Given the description of an element on the screen output the (x, y) to click on. 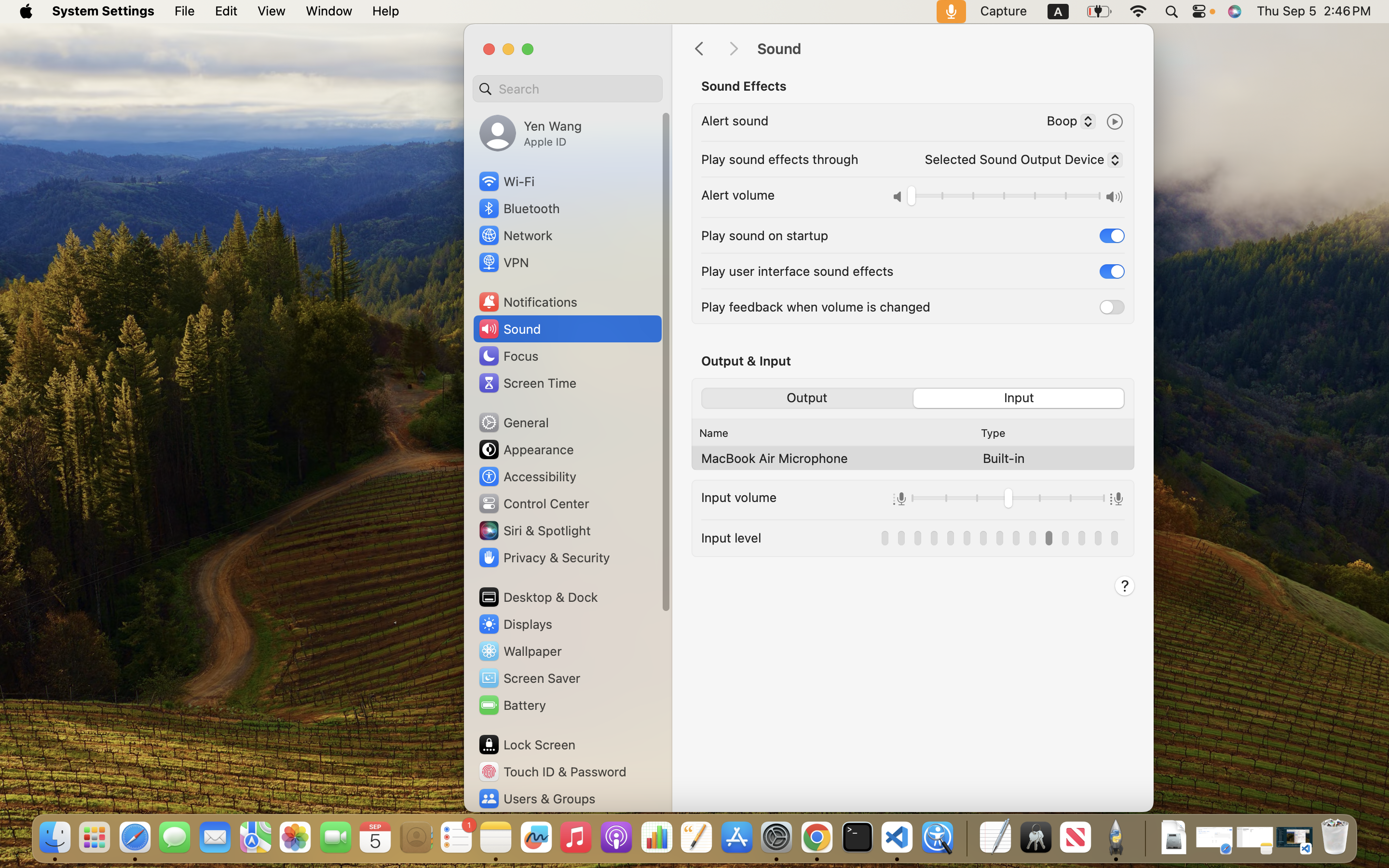
Bluetooth Element type: AXStaticText (518, 207)
Users & Groups Element type: AXStaticText (536, 798)
Boop Element type: AXPopUpButton (1067, 122)
0.5 Element type: AXSlider (1007, 499)
